Given the description of an element on the screen output the (x, y) to click on. 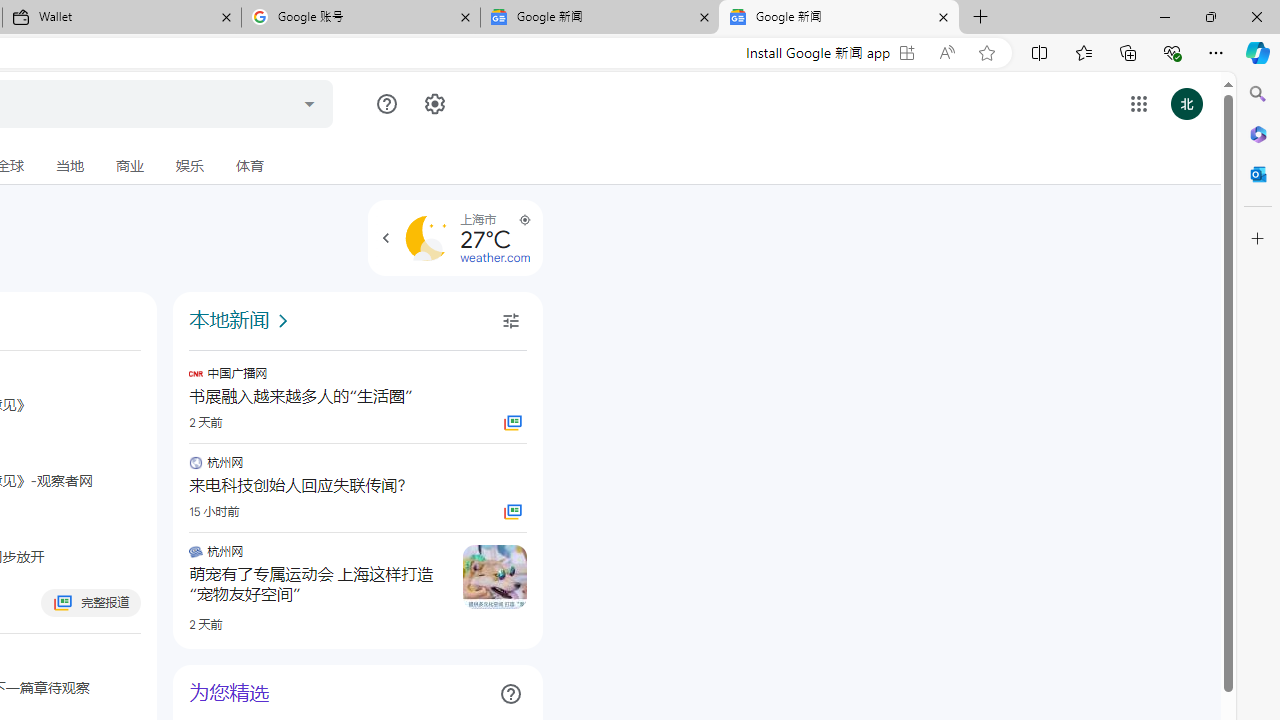
Class: ZmiOCf NMm5M (510, 693)
Class: gb_E (1138, 103)
